Given the description of an element on the screen output the (x, y) to click on. 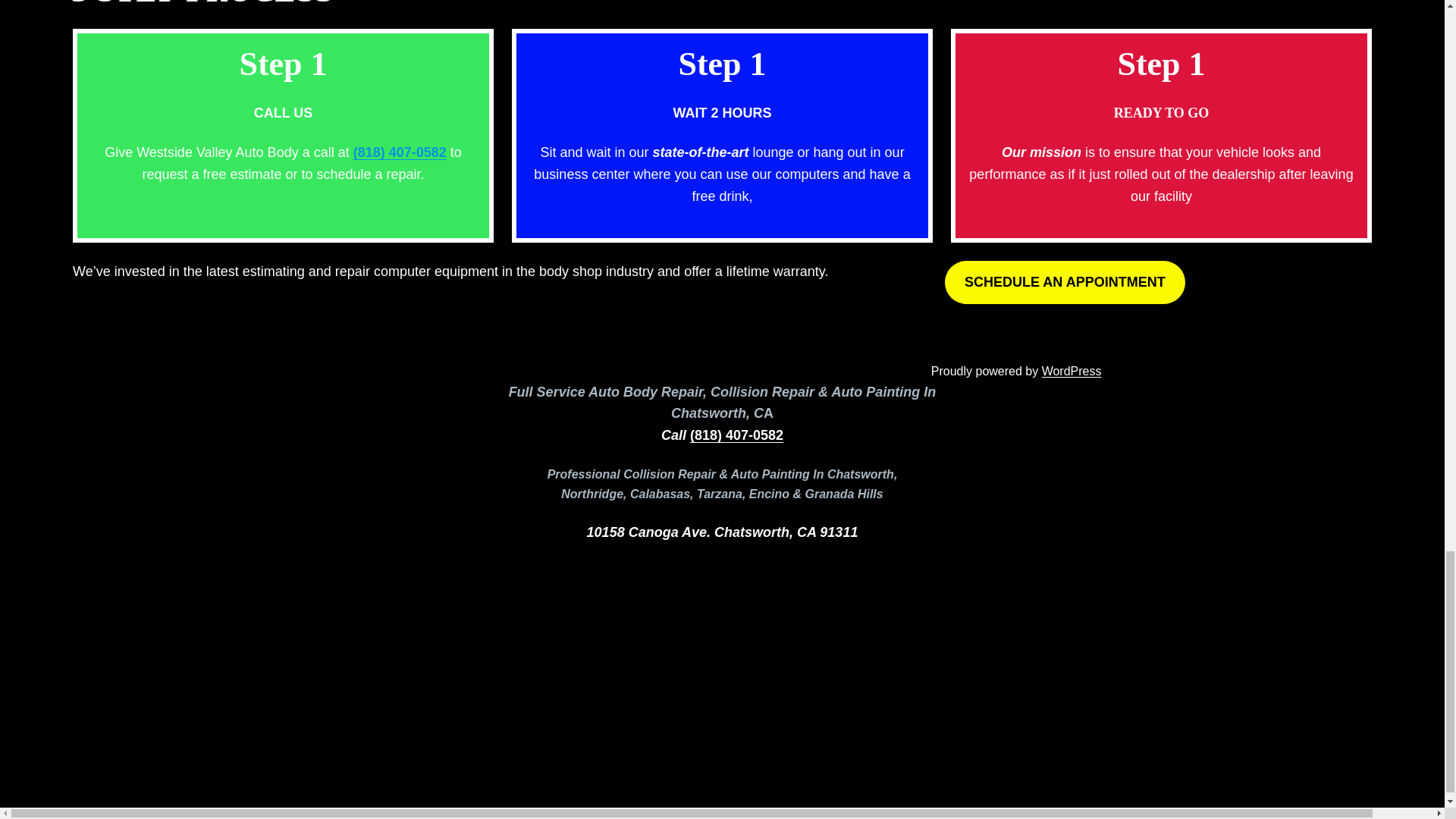
WordPress (1067, 758)
Westside Valley Auto Body (423, 758)
SCHEDULE AN APPOINTMENT (1064, 282)
WordPress (1072, 370)
